Given the description of an element on the screen output the (x, y) to click on. 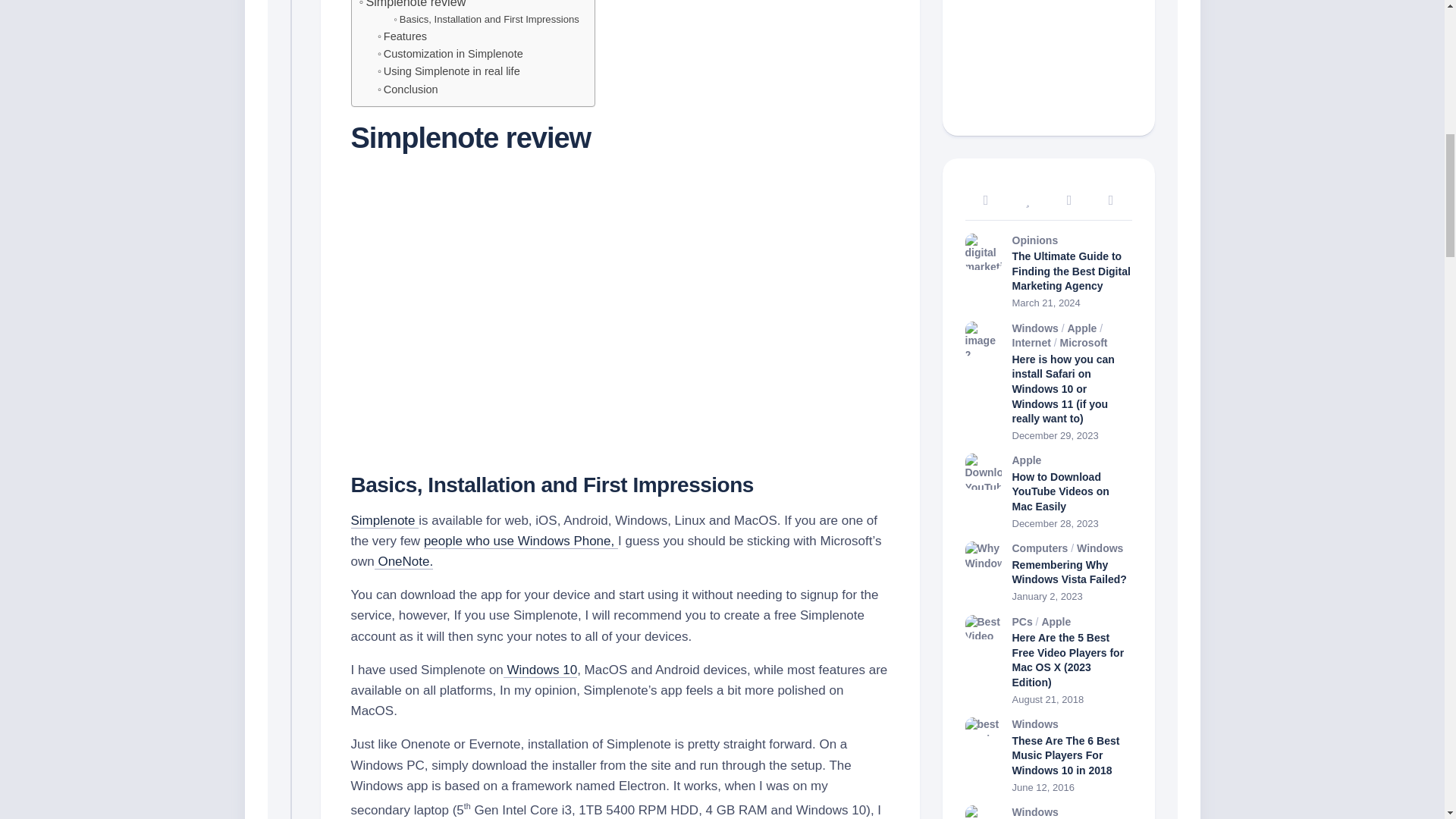
Simplenote review (412, 6)
Customization in Simplenote (449, 54)
Tags (1111, 200)
Basics, Installation and First Impressions (486, 19)
Recent Posts (984, 200)
Conclusion (407, 89)
Simplenote review (412, 6)
Basics, Installation and First Impressions (486, 19)
Features (401, 36)
Recent Comments (1068, 200)
Popular Posts (1027, 200)
Using Simplenote in real life (448, 71)
